Given the description of an element on the screen output the (x, y) to click on. 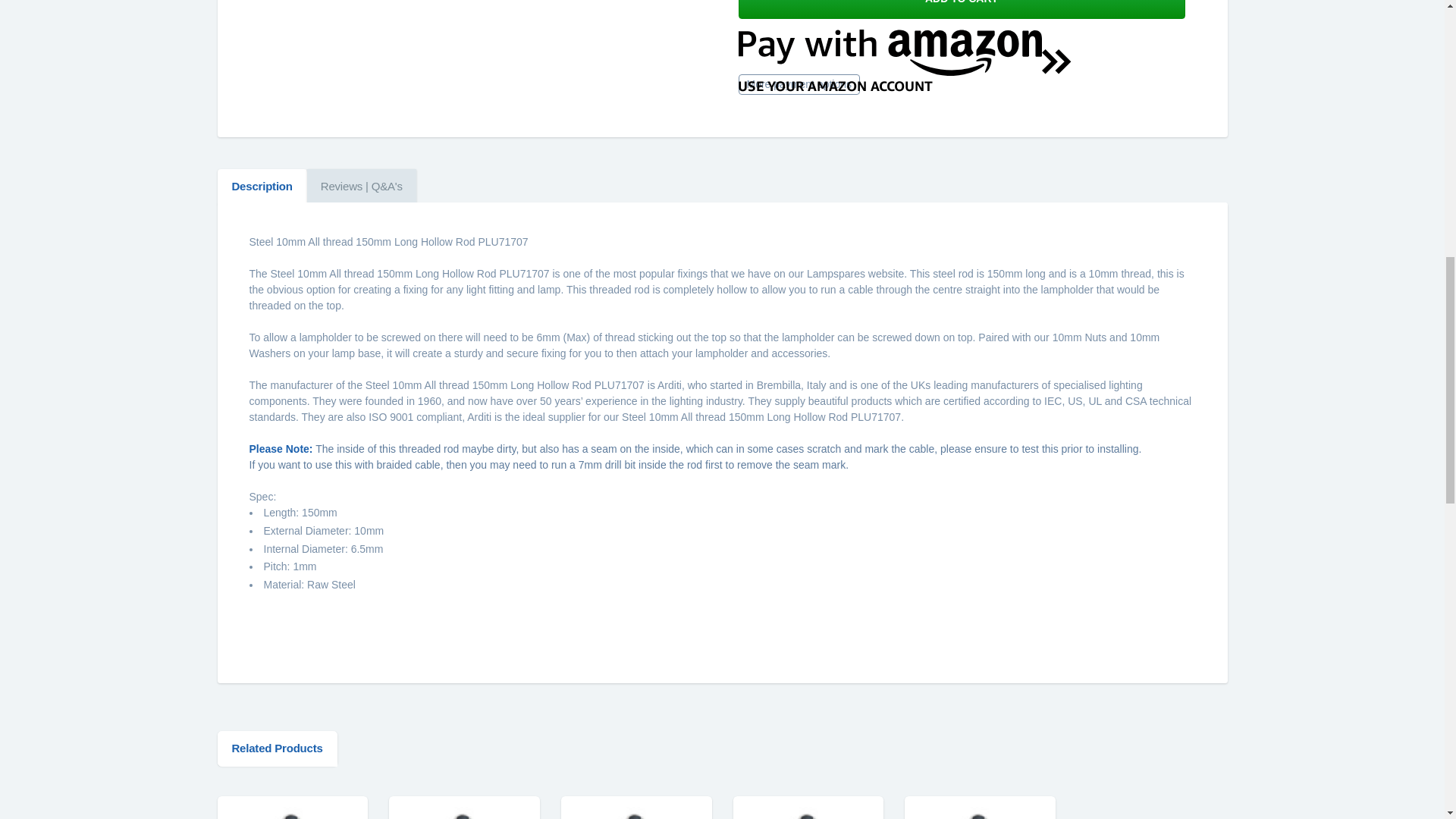
Steel 10mm Allthread 50mm Long Hollow Rod PLU19295 (291, 812)
Add to Cart (960, 9)
